Given the description of an element on the screen output the (x, y) to click on. 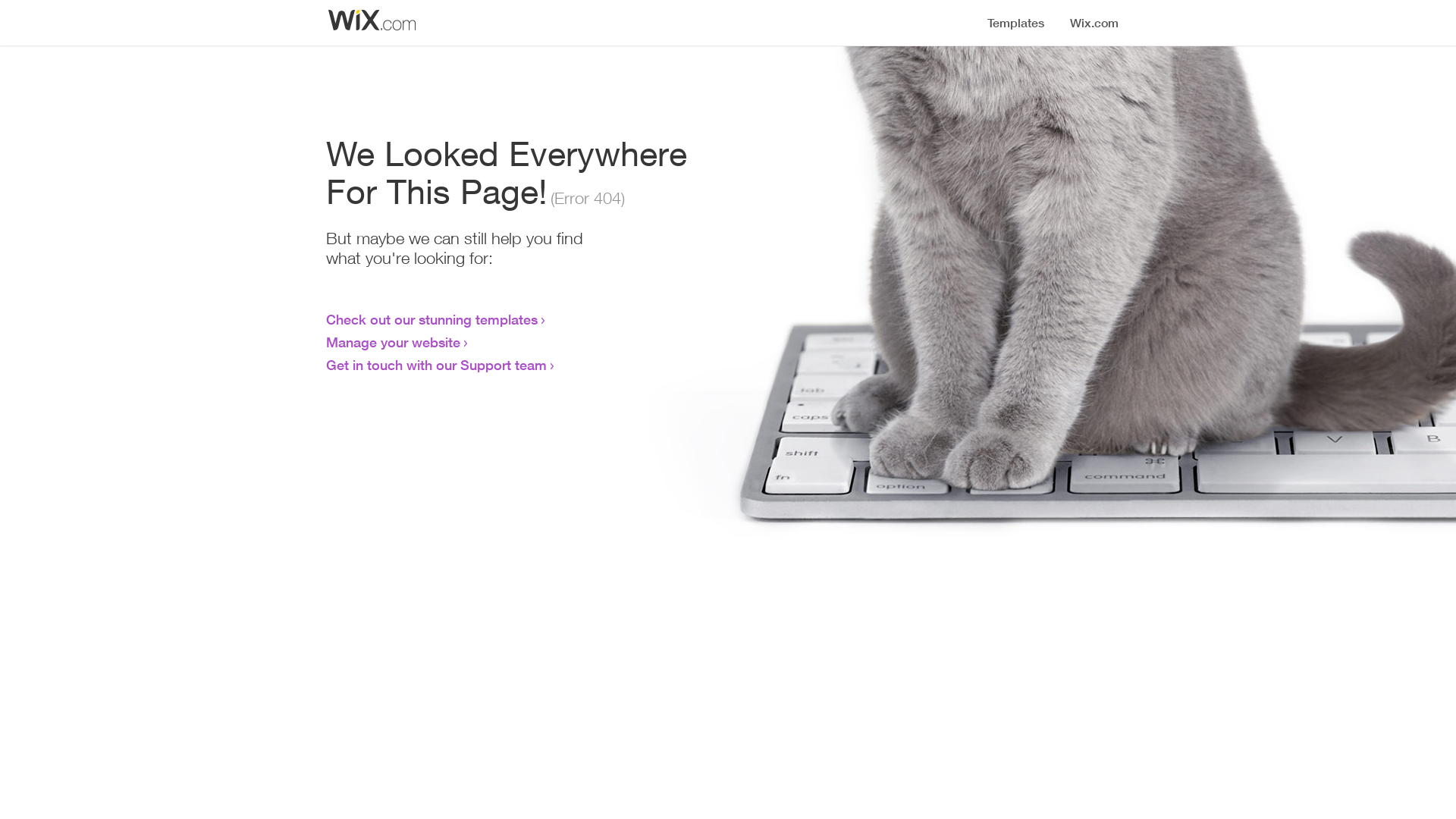
Manage your website Element type: text (393, 341)
Get in touch with our Support team Element type: text (436, 364)
Check out our stunning templates Element type: text (431, 318)
